Given the description of an element on the screen output the (x, y) to click on. 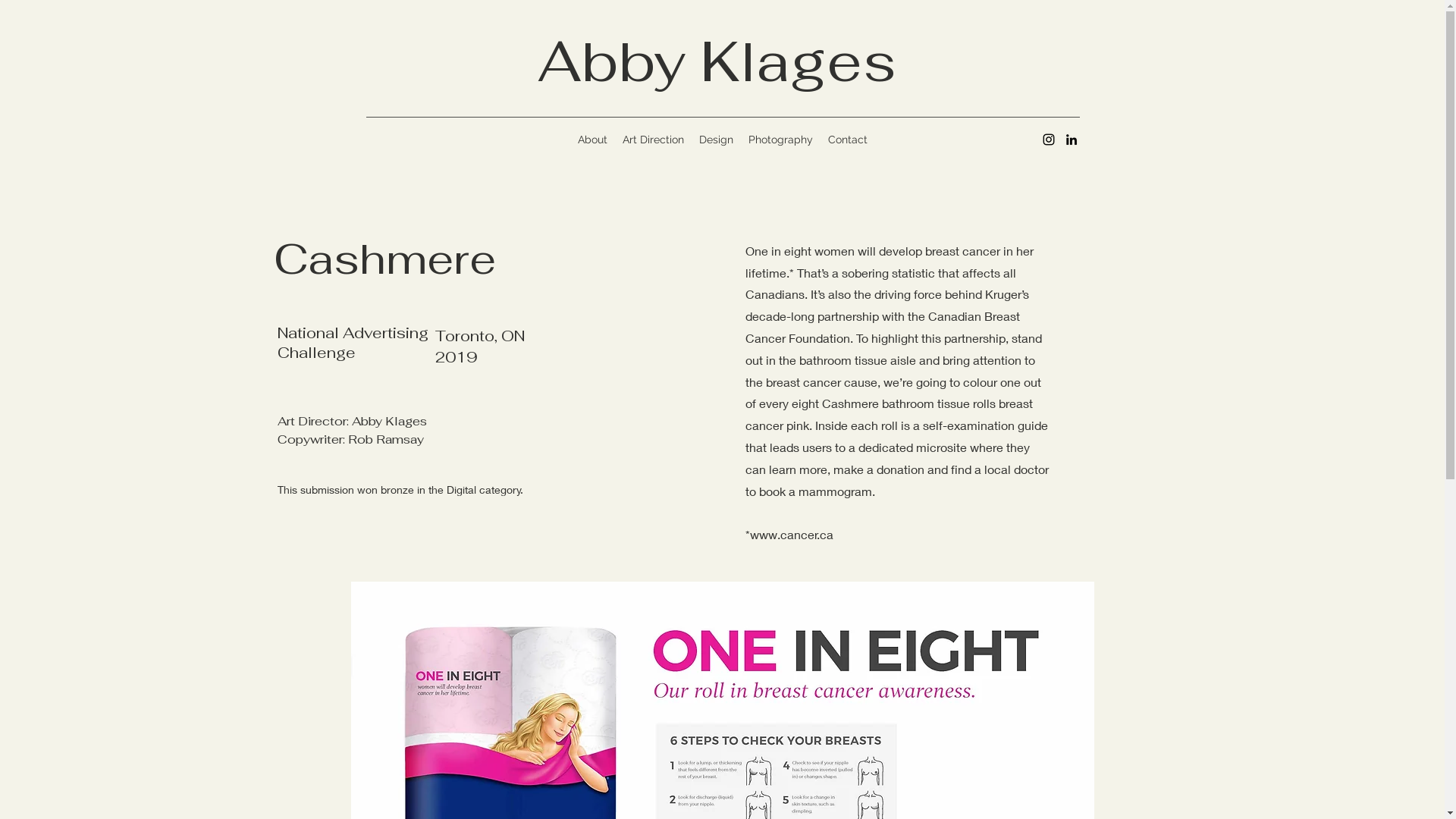
www.cancer.ca Element type: text (790, 534)
Abby Klages Element type: text (716, 60)
Contact Element type: text (847, 139)
About Element type: text (592, 139)
